Given the description of an element on the screen output the (x, y) to click on. 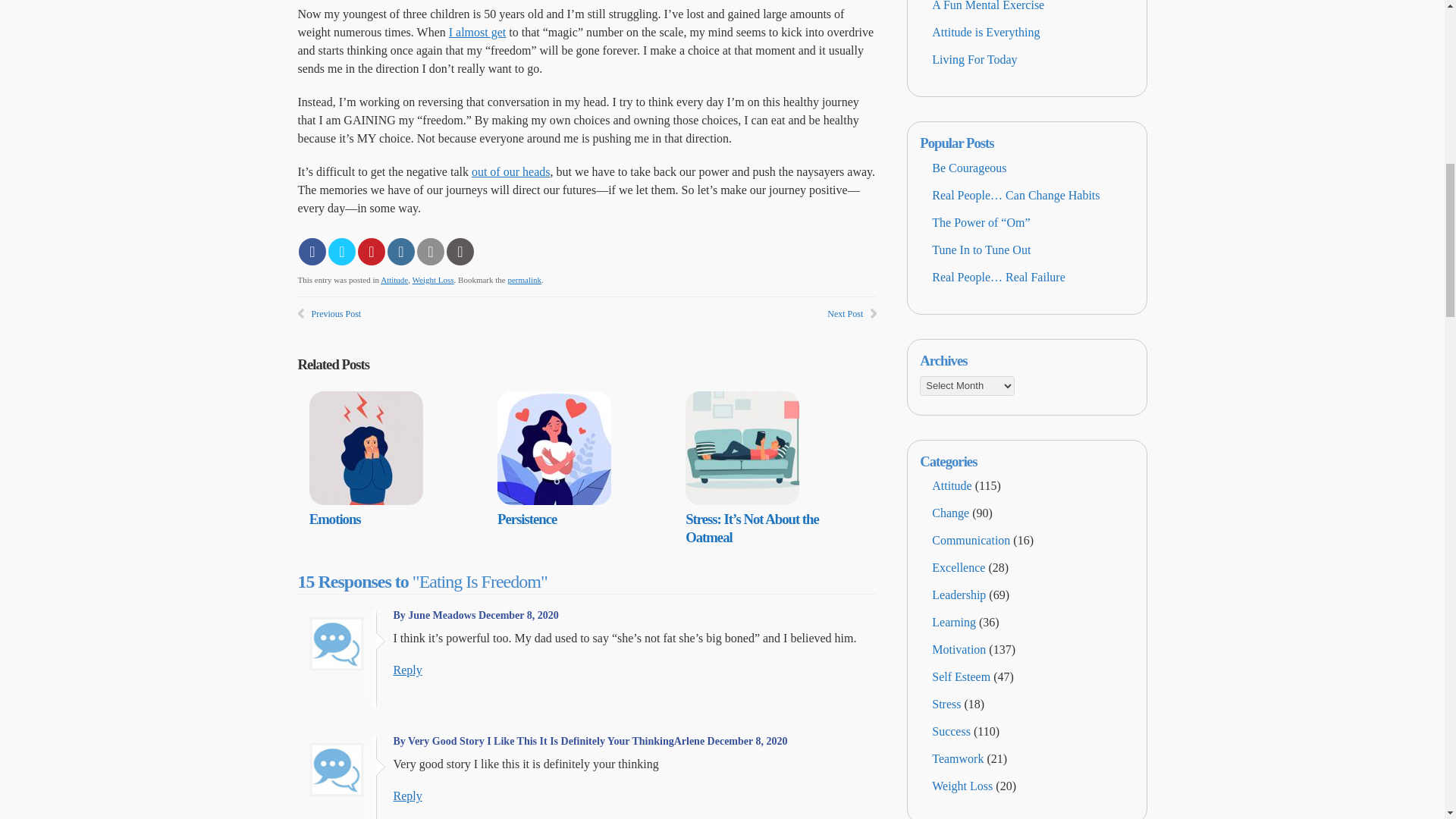
Next Post (845, 312)
I almost get (477, 31)
Persistence (554, 500)
Persistence (526, 519)
out of our heads (510, 171)
Share on Pinterest (371, 251)
Attitude (393, 278)
Share on Facebook (312, 251)
Persistence (526, 519)
Permalink to Eating Is Freedom (523, 278)
Reply (407, 795)
Weight Loss (433, 278)
Share on LinkedIn (400, 251)
Reply (407, 669)
Emotions (334, 519)
